Given the description of an element on the screen output the (x, y) to click on. 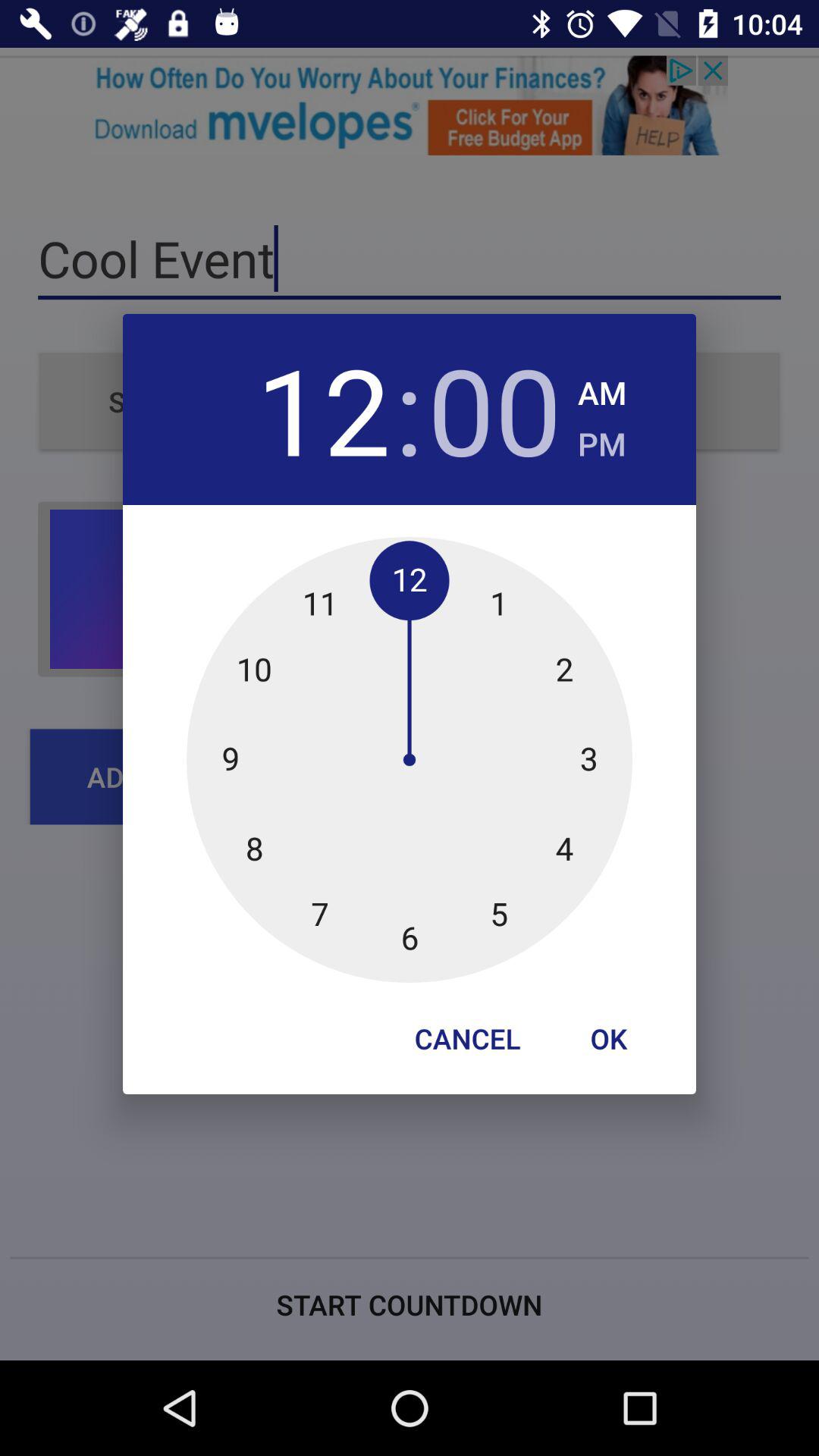
open icon next to the 00 app (601, 388)
